Given the description of an element on the screen output the (x, y) to click on. 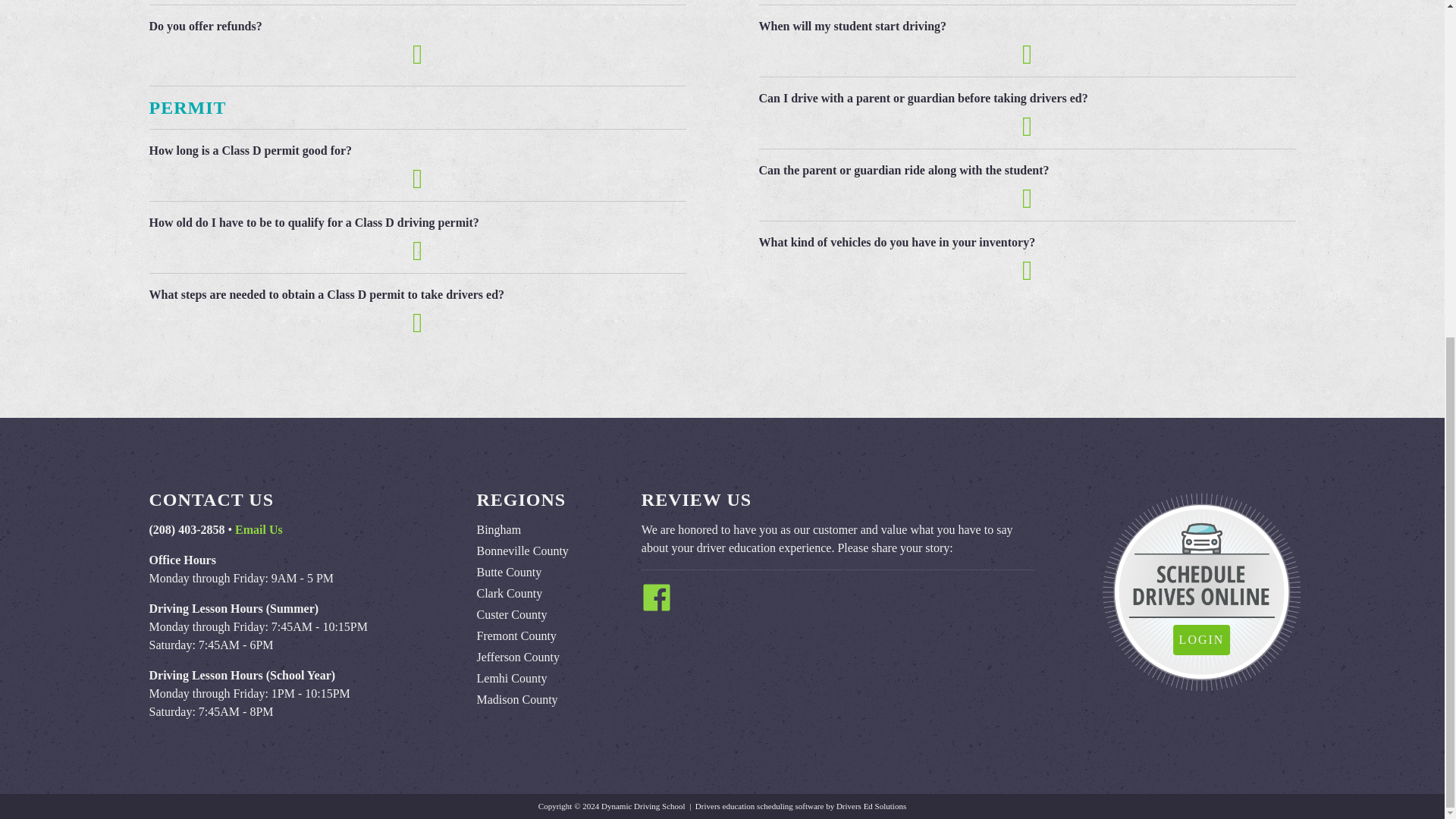
Email Us (258, 529)
Drivers Ed Solutions (870, 805)
Drivers education scheduling software (759, 805)
LOGIN (1201, 639)
